Given the description of an element on the screen output the (x, y) to click on. 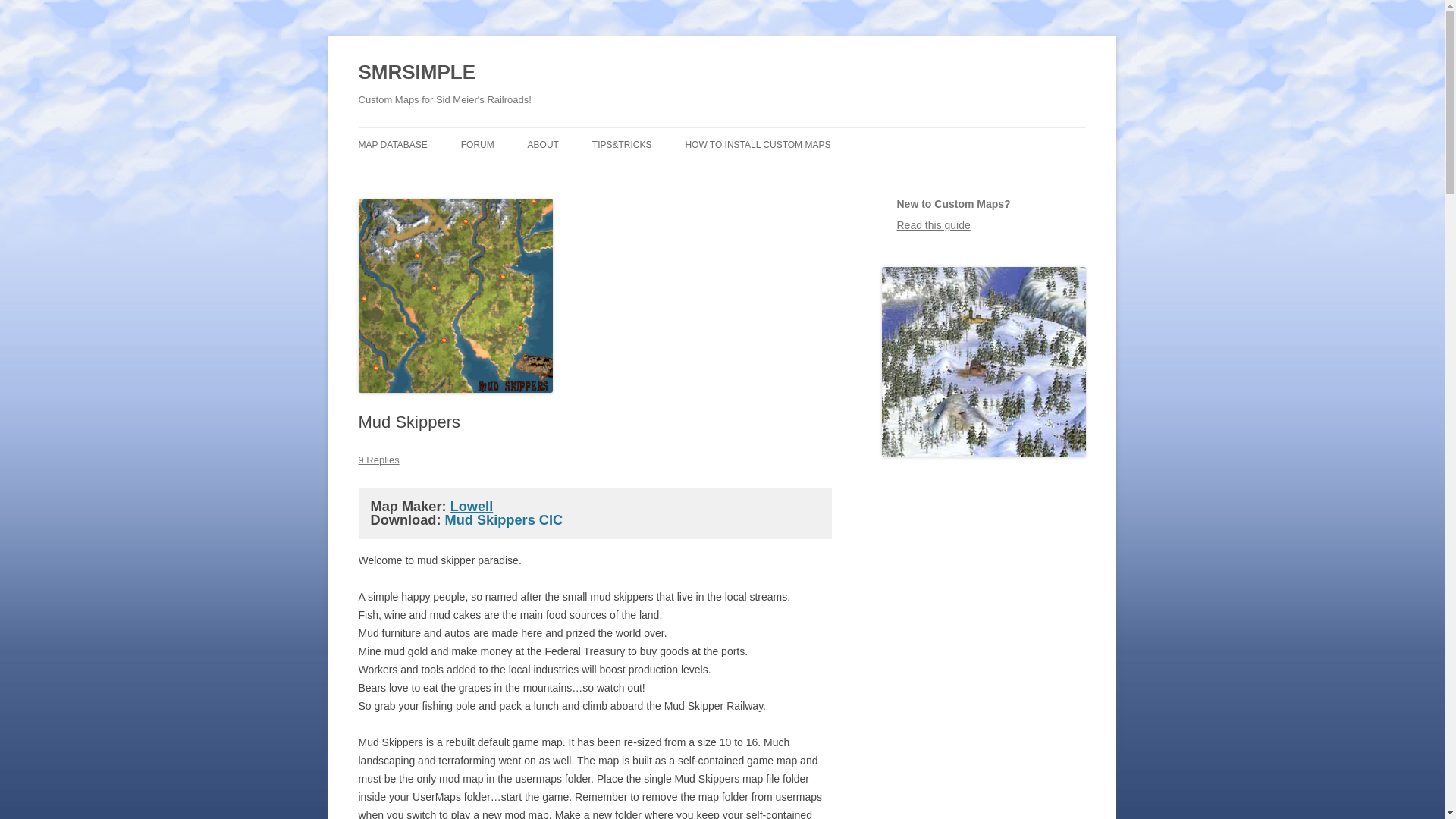
HOW TO INSTALL CUSTOM MAPS (991, 214)
FORUM (756, 144)
Mud Skippers CIC (478, 144)
SMRSIMPLE (503, 519)
Lowell (416, 72)
MAP DATABASE (471, 506)
Skip to content (392, 144)
ABOUT (454, 407)
9 Replies (543, 144)
